Given the description of an element on the screen output the (x, y) to click on. 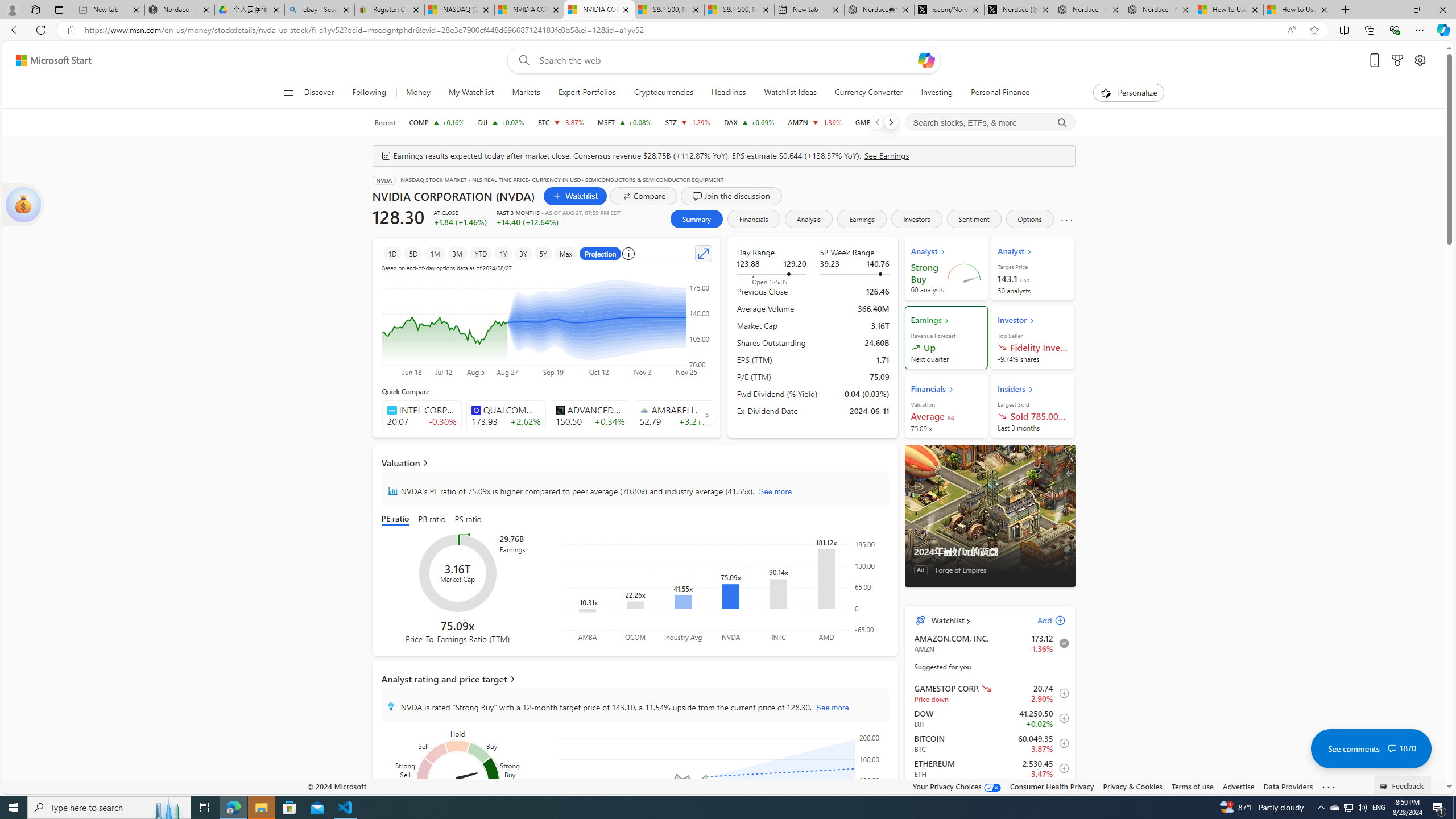
Address and search bar (680, 29)
PB ratio (431, 520)
Consumer Health Privacy (1051, 786)
Expert Portfolios (586, 92)
Remove from watchlist (1061, 642)
x.com/NordaceOfficial (949, 9)
BNB BNB decrease 543.57 -7.28 -1.34% item4 (989, 792)
Data Providers (1288, 785)
AutomationID: finance_carousel_navi_arrow (706, 414)
Projection (600, 253)
3M (456, 253)
Watchlist (946, 620)
STZ CONSTELLATION BRANDS, INC. decrease 239.98 -3.13 -1.29% (687, 122)
